Given the description of an element on the screen output the (x, y) to click on. 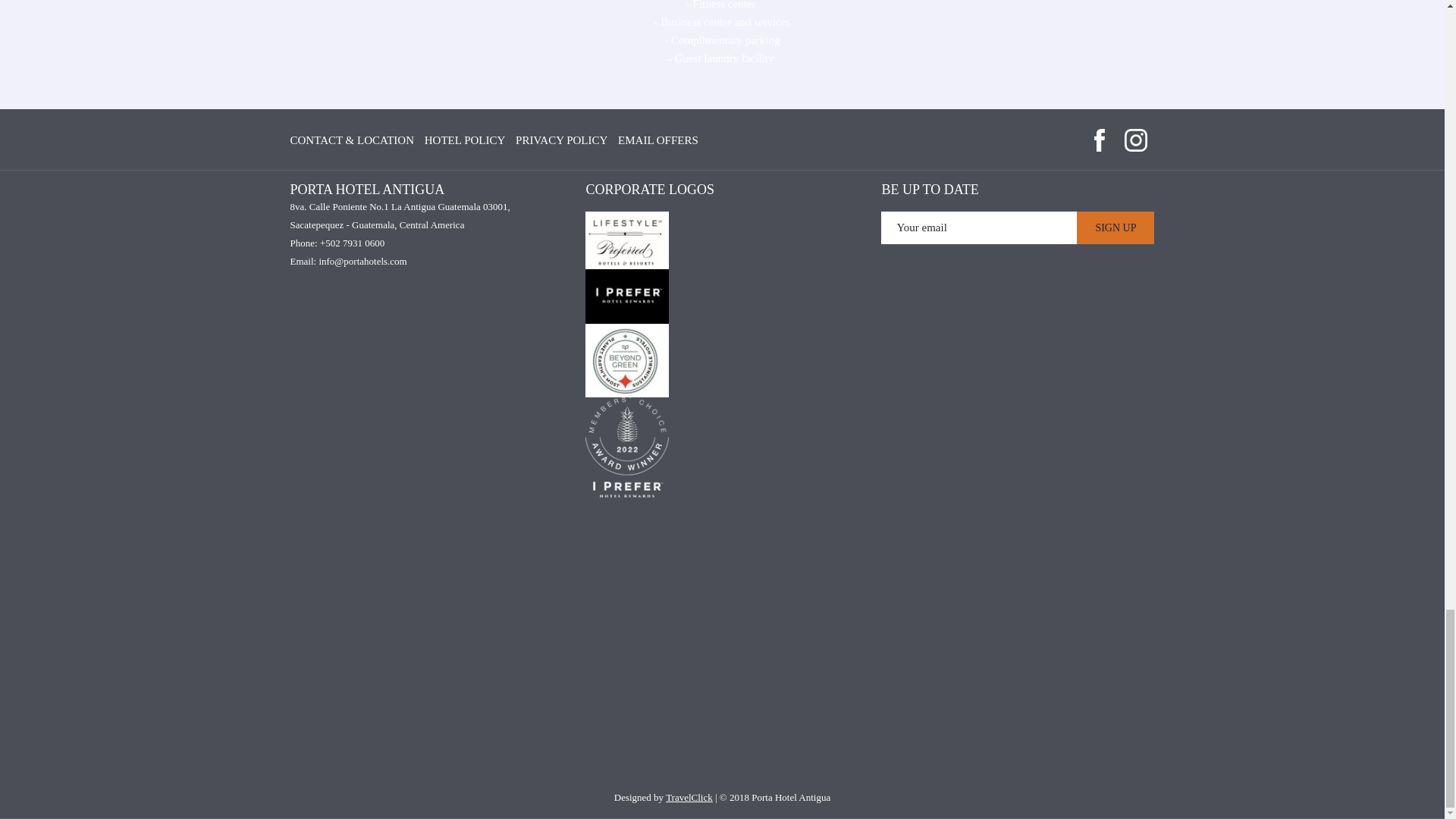
PRIVACY POLICY (561, 140)
SIGN UP (1115, 227)
HOTEL POLICY (465, 140)
EMAIL OFFERS (657, 140)
